Given the description of an element on the screen output the (x, y) to click on. 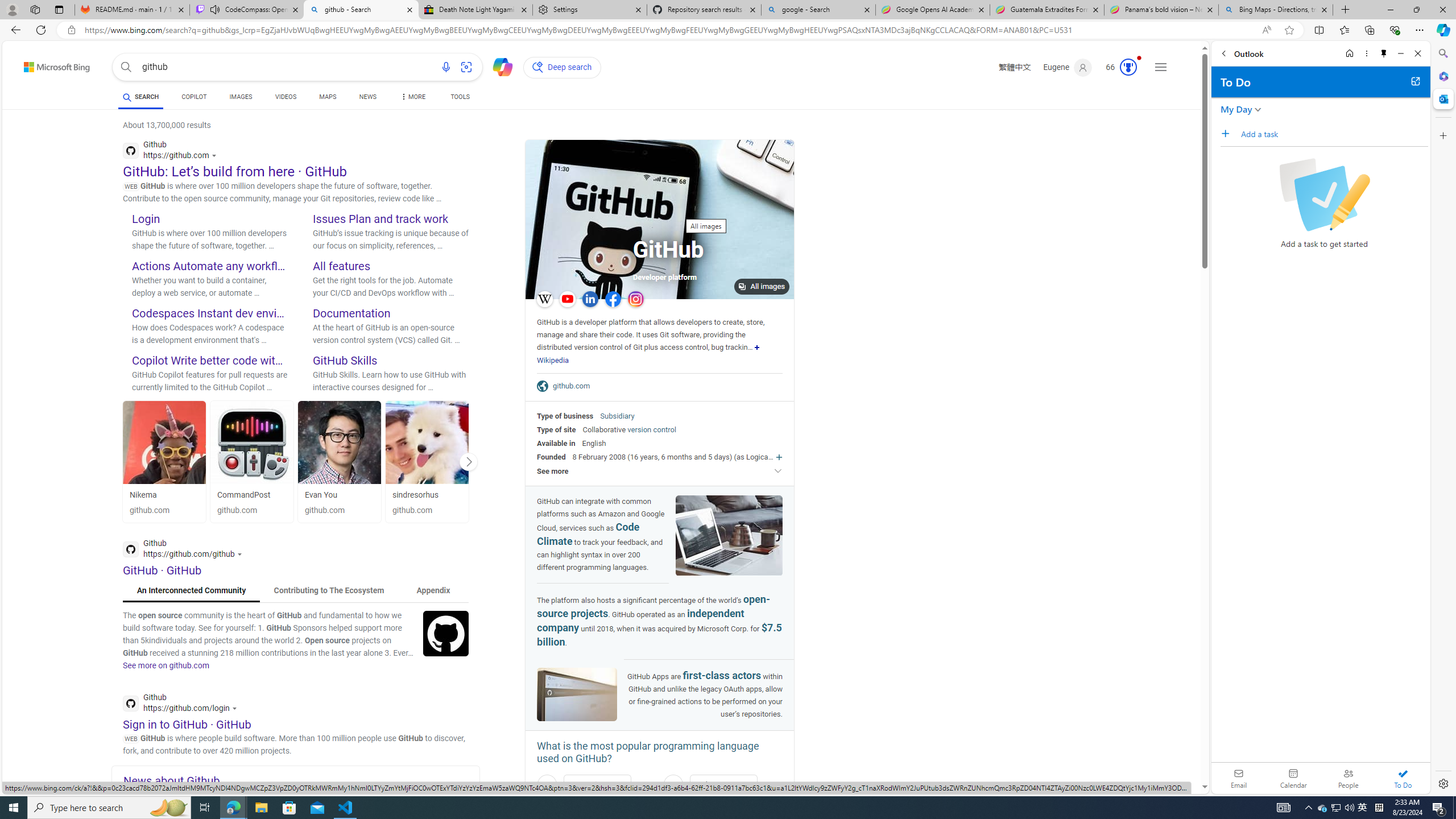
GitHub Skills (345, 359)
Wikipedia (553, 360)
AutomationID: serp_medal_svg (1128, 67)
SEARCH (140, 96)
Login (146, 218)
github.com (427, 511)
